Given the description of an element on the screen output the (x, y) to click on. 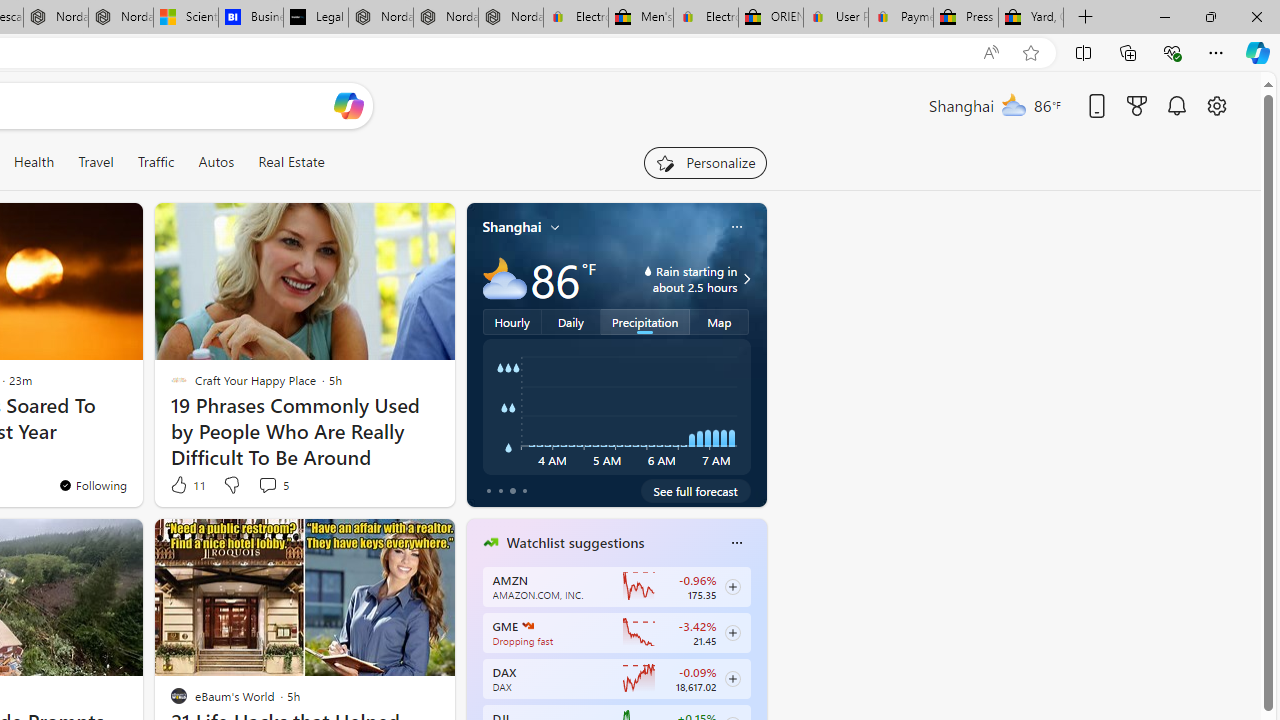
Autos (216, 162)
Rain starting in about 2.5 hours (744, 278)
Map (719, 321)
Nordace - Summer Adventures 2024 (56, 17)
My location (555, 227)
Autos (215, 161)
GAMESTOP CORP. (528, 625)
tab-0 (488, 490)
View comments 5 Comment (267, 485)
